Given the description of an element on the screen output the (x, y) to click on. 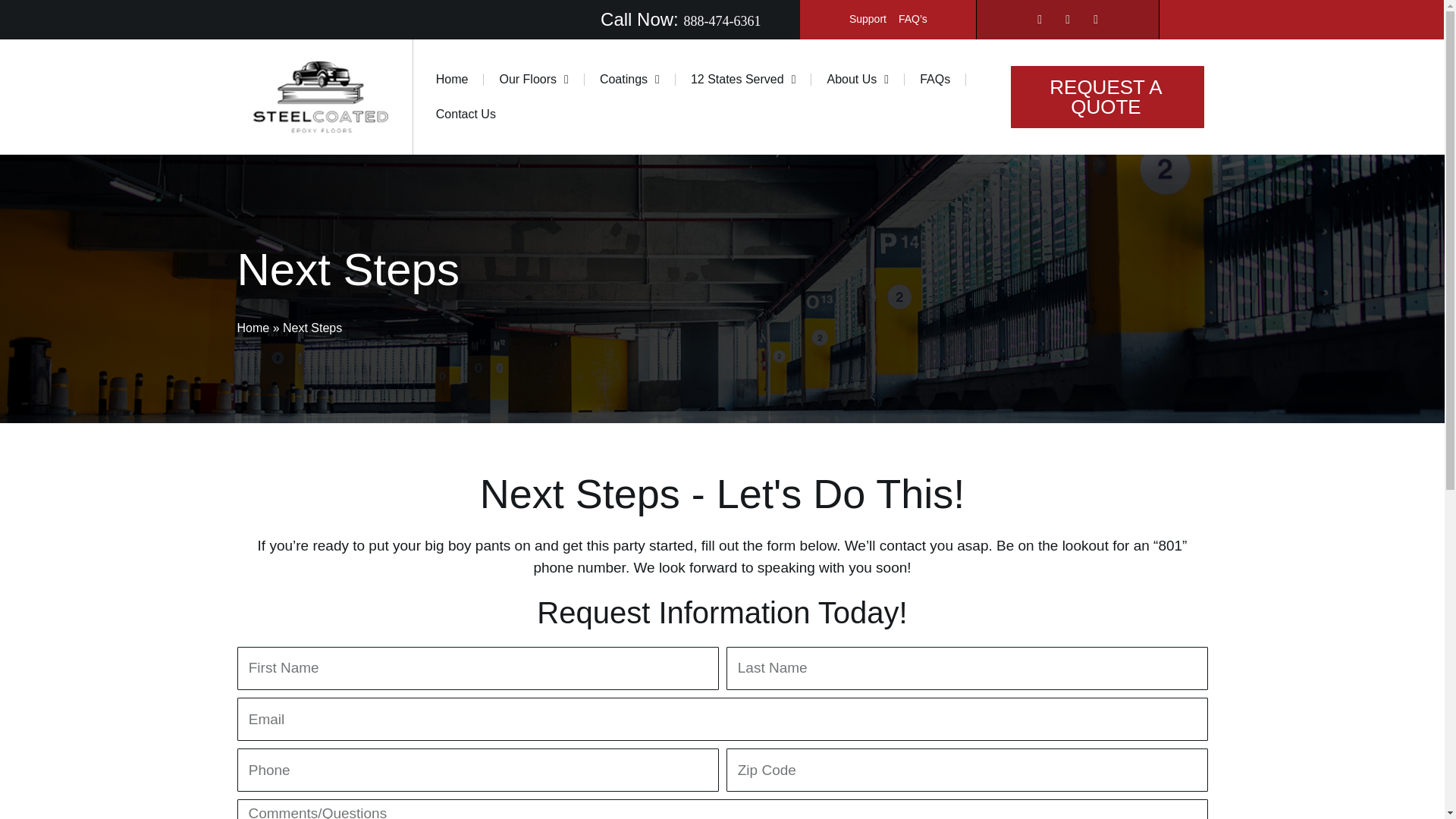
Coatings (630, 79)
888-474-6361 (721, 20)
FAQs (934, 79)
Support (867, 19)
12 States Served (742, 79)
Our Floors (533, 79)
Contact Us (465, 114)
About Us (857, 79)
Home (451, 79)
